Given the description of an element on the screen output the (x, y) to click on. 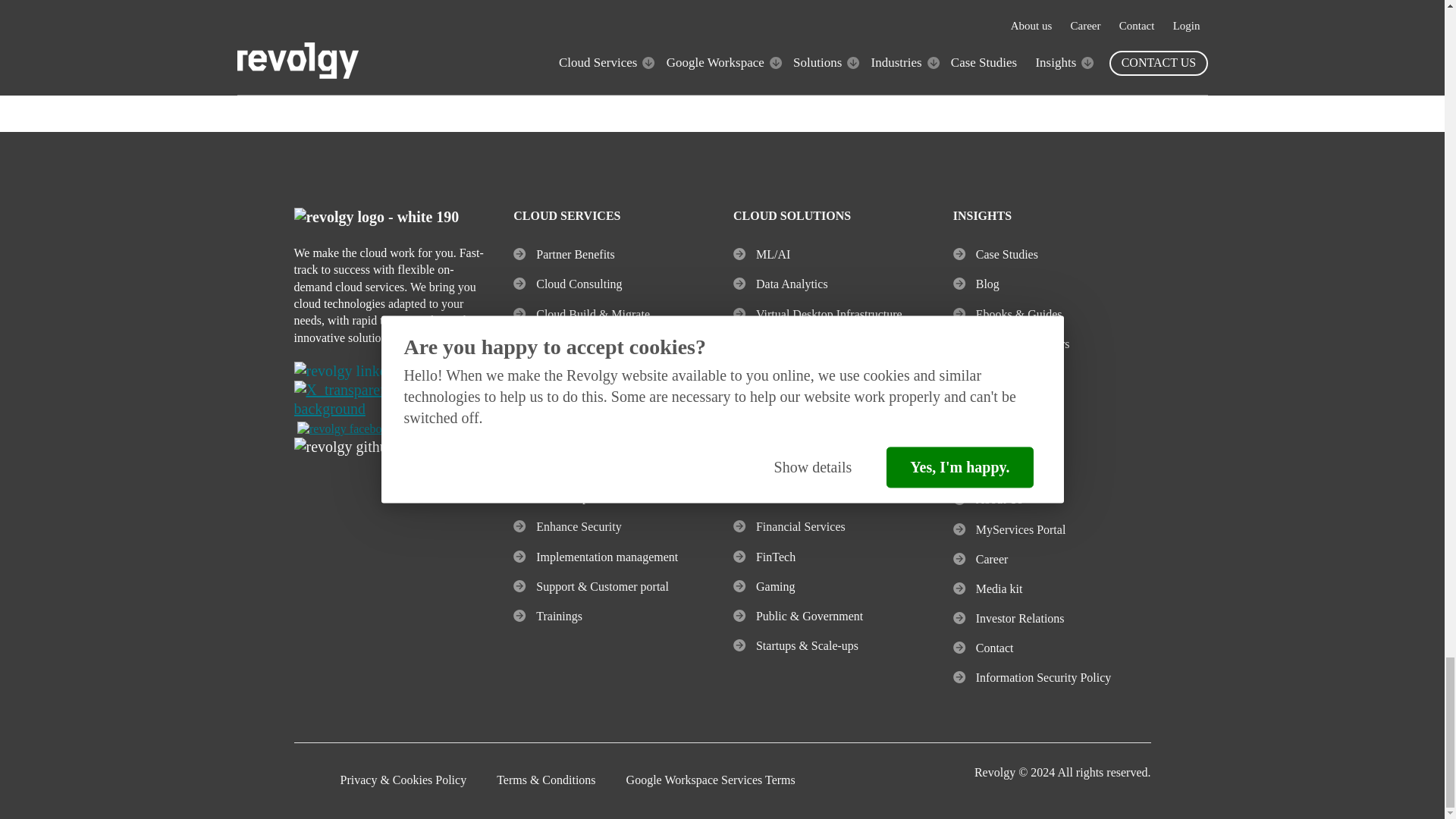
Subscribe (962, 36)
